Given the description of an element on the screen output the (x, y) to click on. 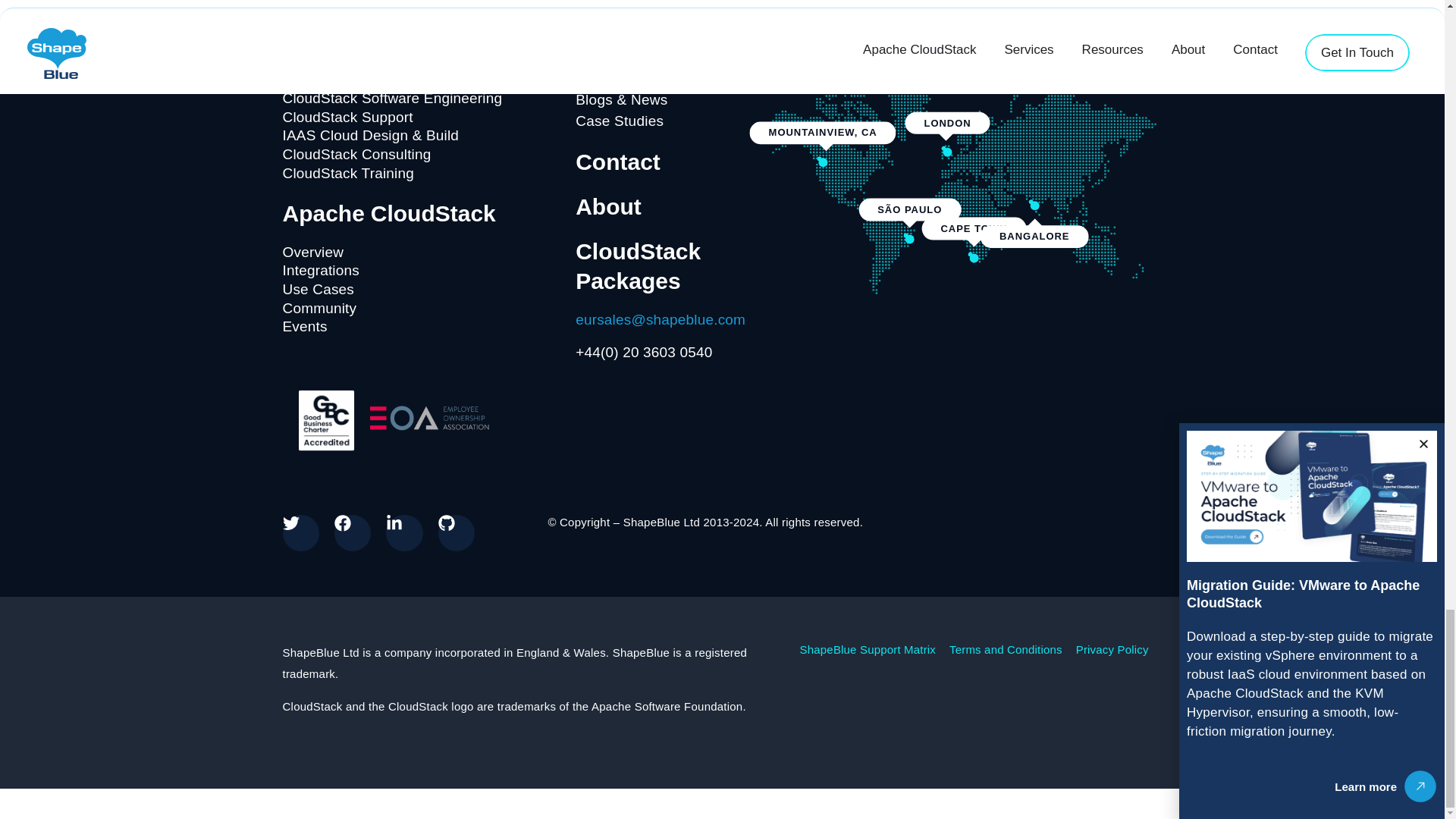
gbc-accredited-stamp-transparent-white-rgb (325, 420)
